Given the description of an element on the screen output the (x, y) to click on. 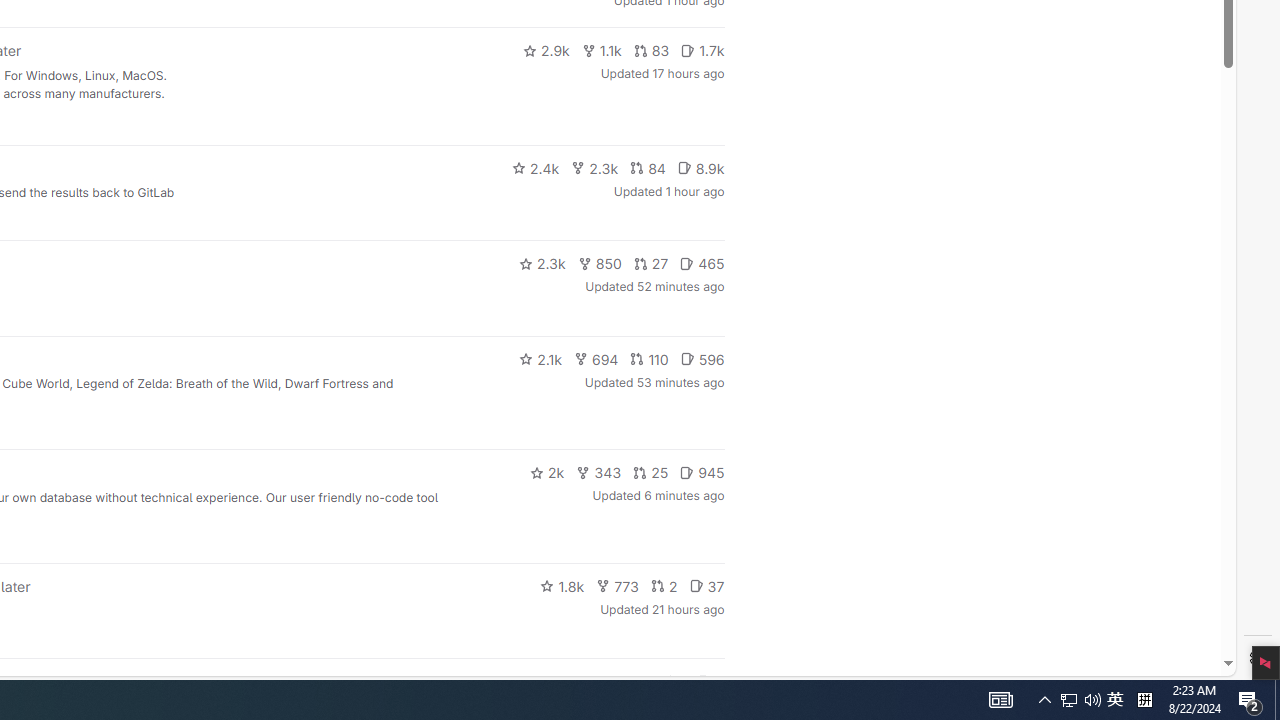
1.4k (573, 681)
83 (651, 50)
596 (701, 358)
1 (673, 681)
2k (546, 472)
343 (599, 472)
25 (651, 472)
1.8k (562, 585)
Class: s14 gl-mr-2 (704, 681)
465 (701, 263)
2.3k (541, 263)
37 (706, 585)
1.7k (702, 50)
